Given the description of an element on the screen output the (x, y) to click on. 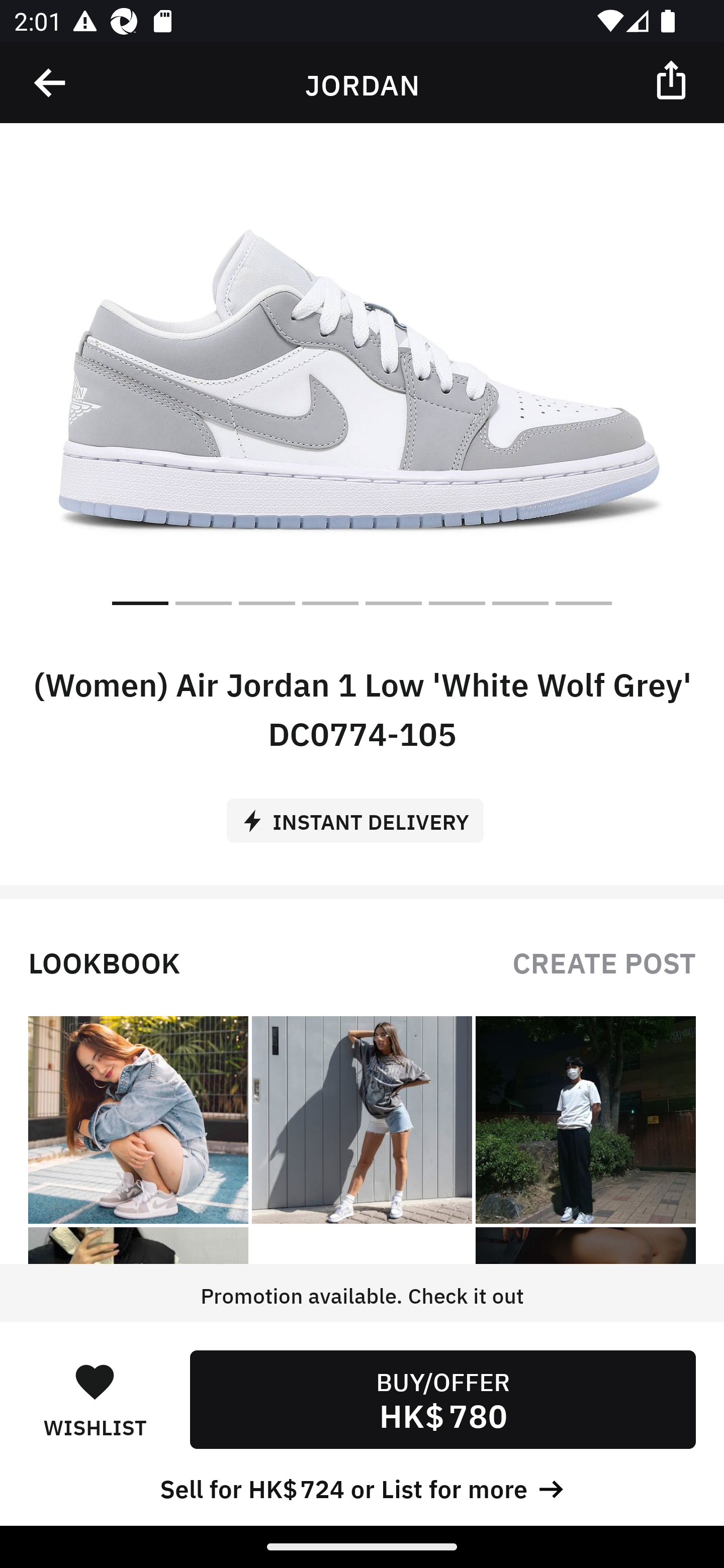
 (50, 83)
 (672, 79)
 INSTANT DELIVERY (362, 813)
CREATE POST (603, 960)
BUY/OFFER HK$ 780 (442, 1399)
󰋑 (94, 1380)
Sell for HK$ 724 or List for more (361, 1486)
